Given the description of an element on the screen output the (x, y) to click on. 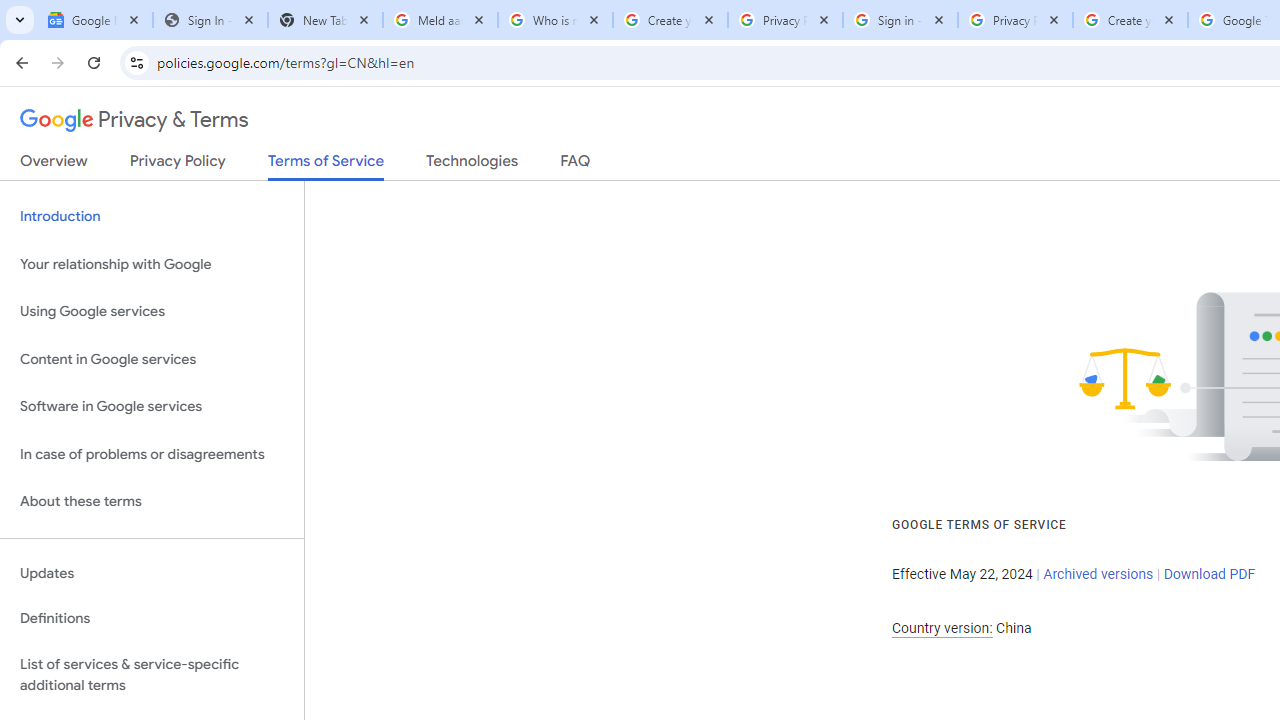
New Tab (324, 20)
Using Google services (152, 312)
Download PDF (1209, 574)
About these terms (152, 502)
Sign in - Google Accounts (900, 20)
Your relationship with Google (152, 263)
Definitions (152, 619)
